Given the description of an element on the screen output the (x, y) to click on. 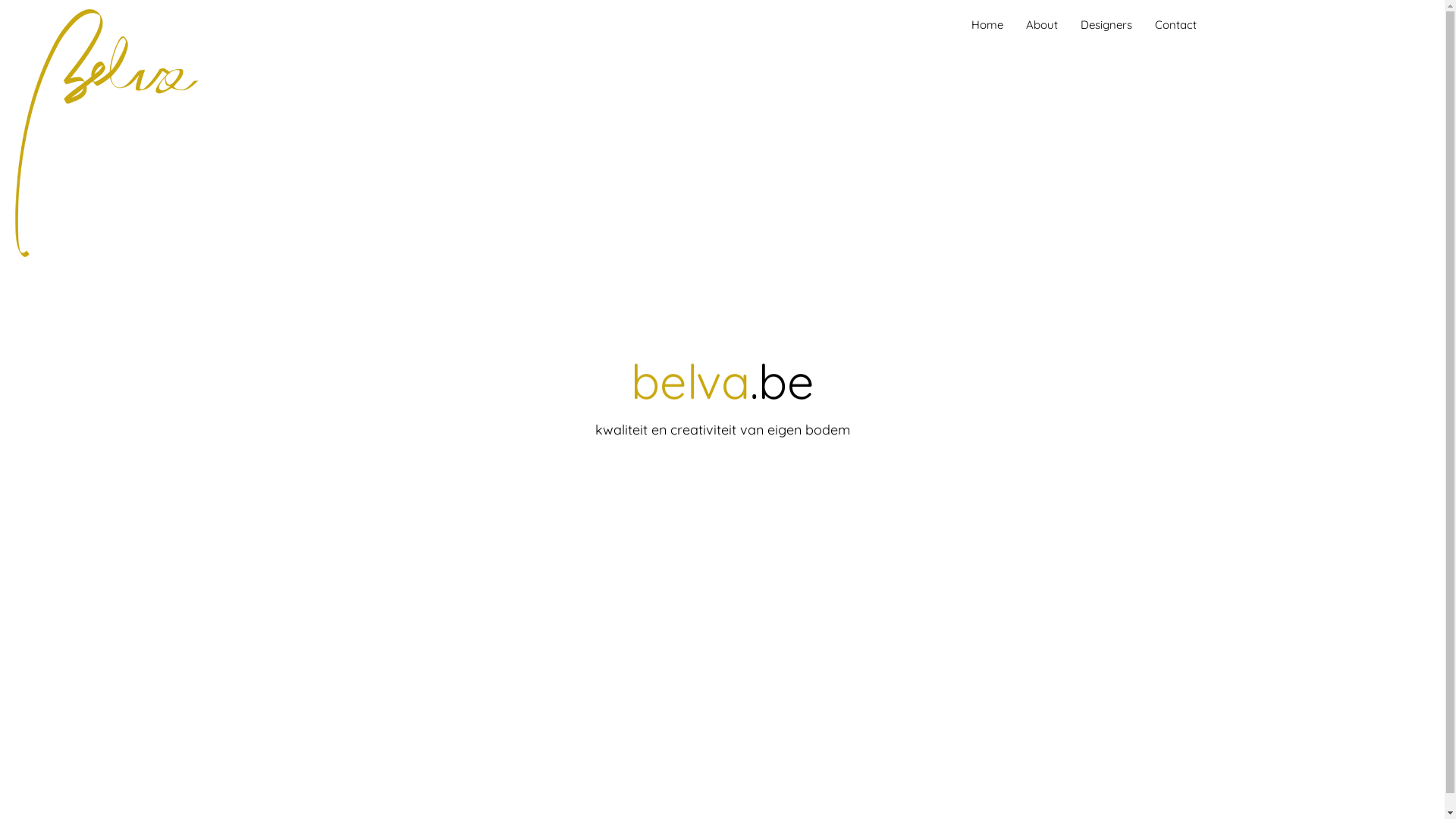
Contact Element type: text (1175, 24)
Designers Element type: text (1106, 24)
About Element type: text (1041, 24)
Home Element type: text (987, 24)
